Given the description of an element on the screen output the (x, y) to click on. 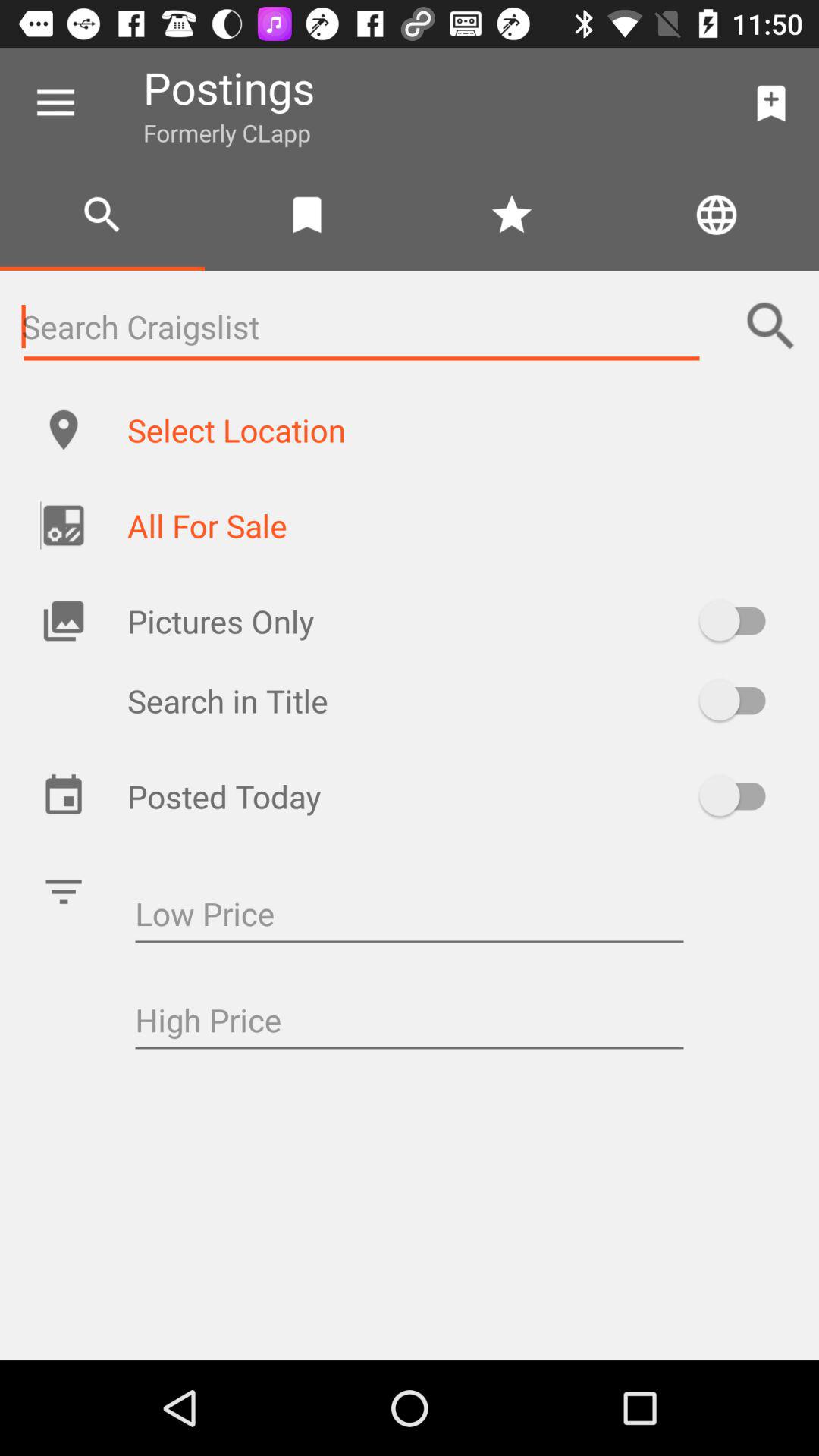
toggle on (739, 700)
